Given the description of an element on the screen output the (x, y) to click on. 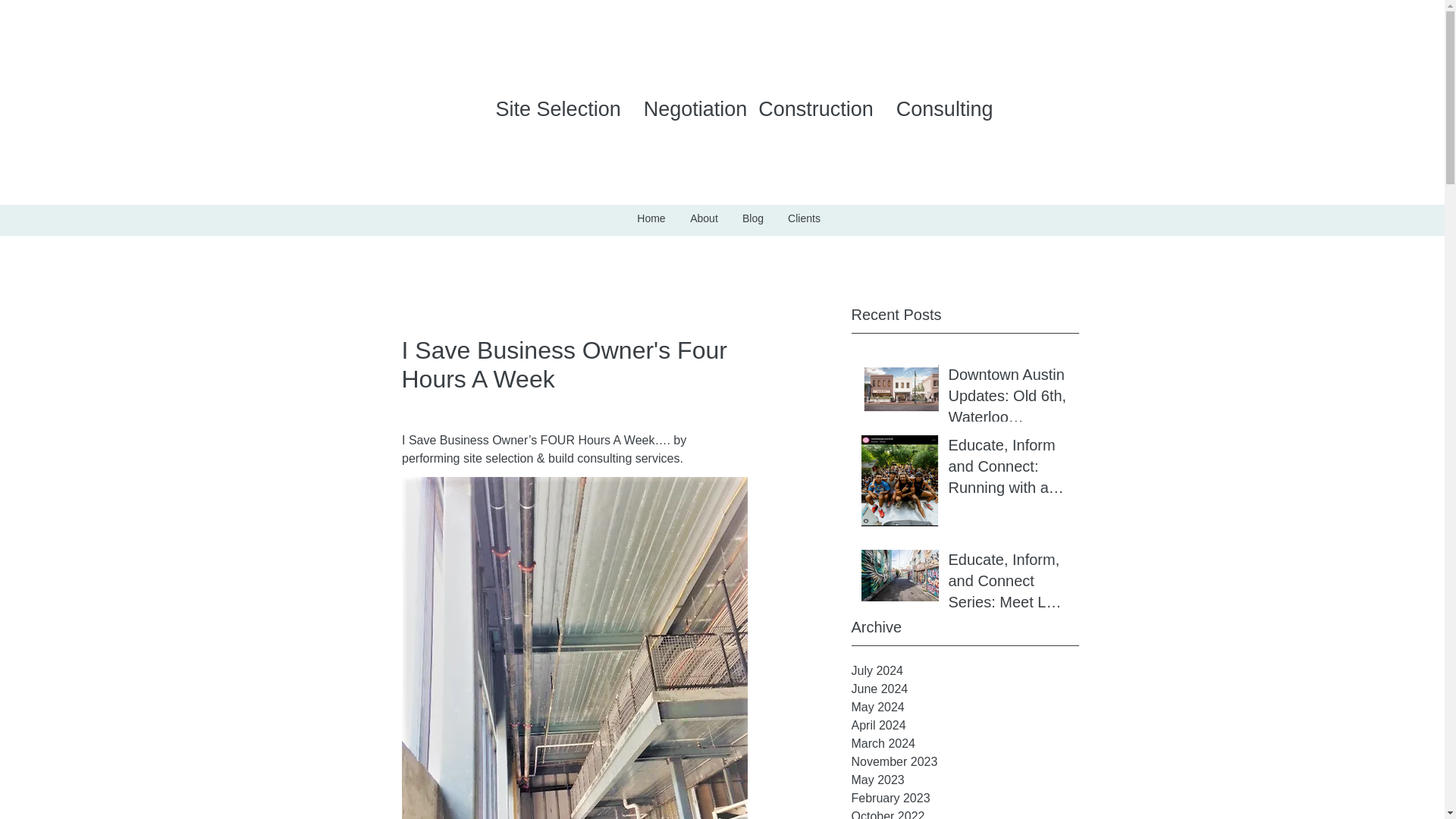
Clients (803, 217)
February 2023 (964, 798)
May 2024 (964, 707)
May 2023 (964, 780)
April 2024 (964, 725)
Home (650, 217)
Blog (753, 217)
July 2024 (964, 670)
About (704, 217)
June 2024 (964, 689)
November 2023 (964, 761)
Downtown Austin Updates: Old 6th, Waterloo Greenway and more (1007, 398)
October 2022 (964, 813)
March 2024 (964, 743)
